Given the description of an element on the screen output the (x, y) to click on. 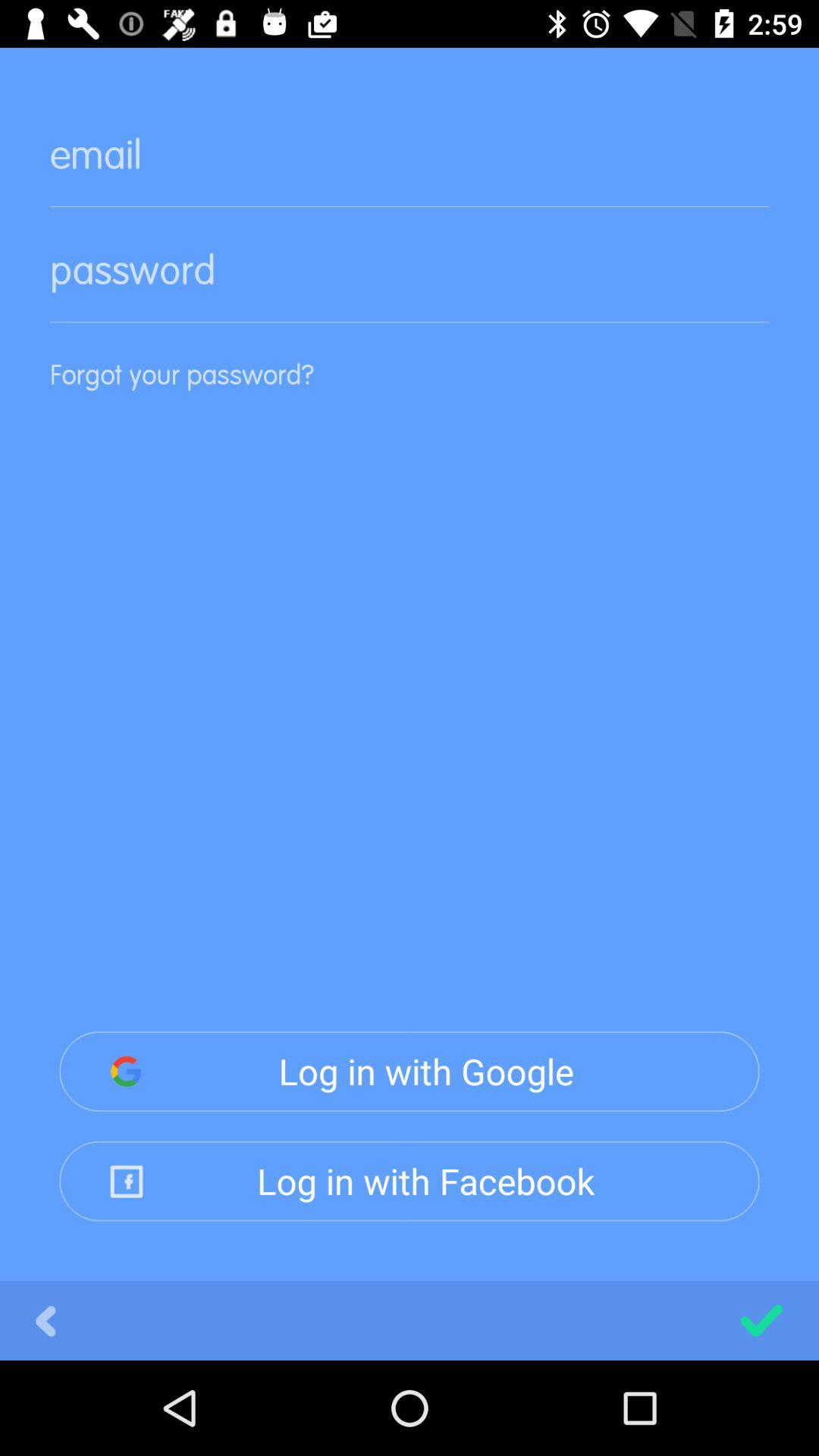
switch password option (409, 282)
